Given the description of an element on the screen output the (x, y) to click on. 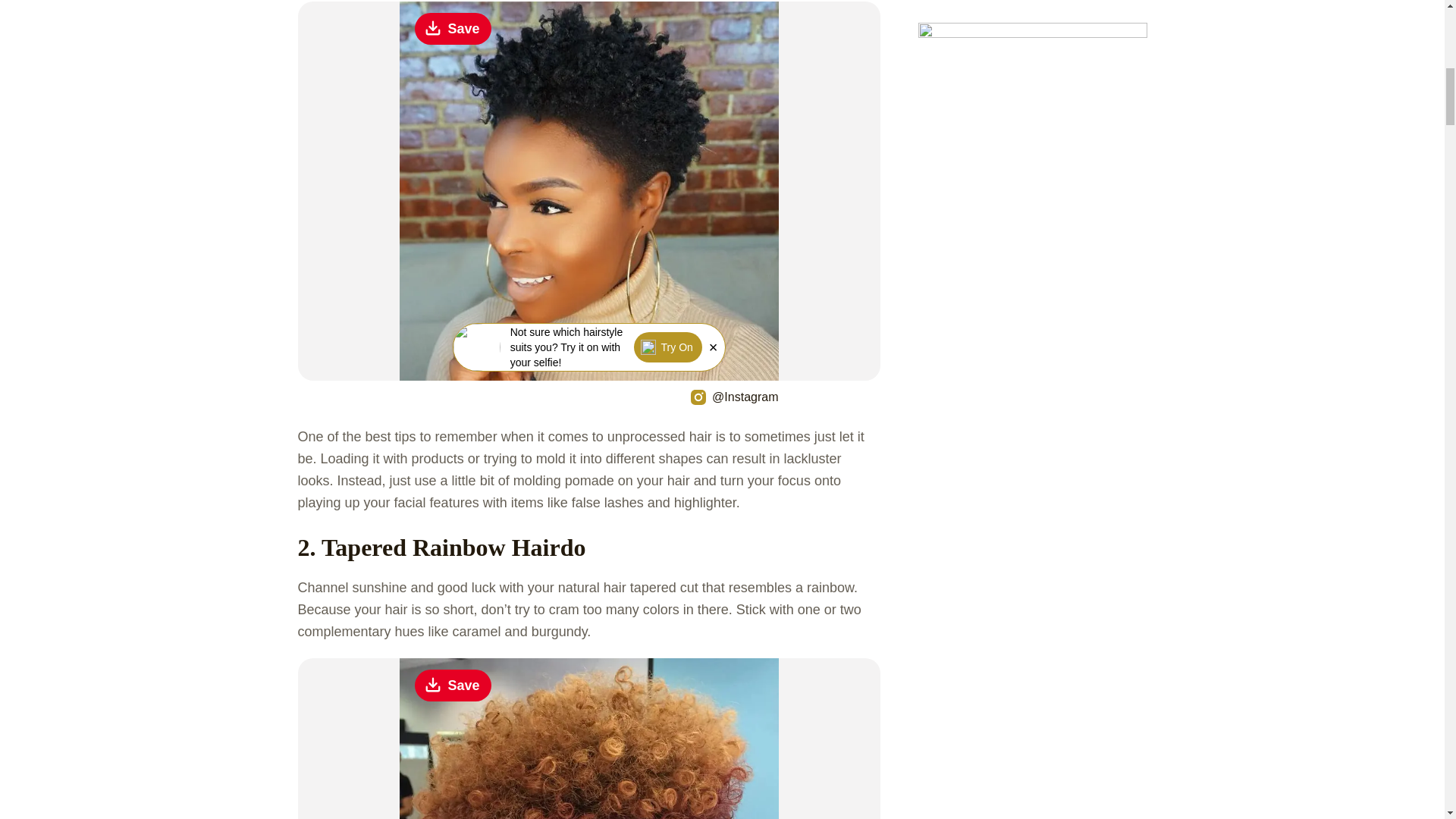
Try On (667, 347)
